Given the description of an element on the screen output the (x, y) to click on. 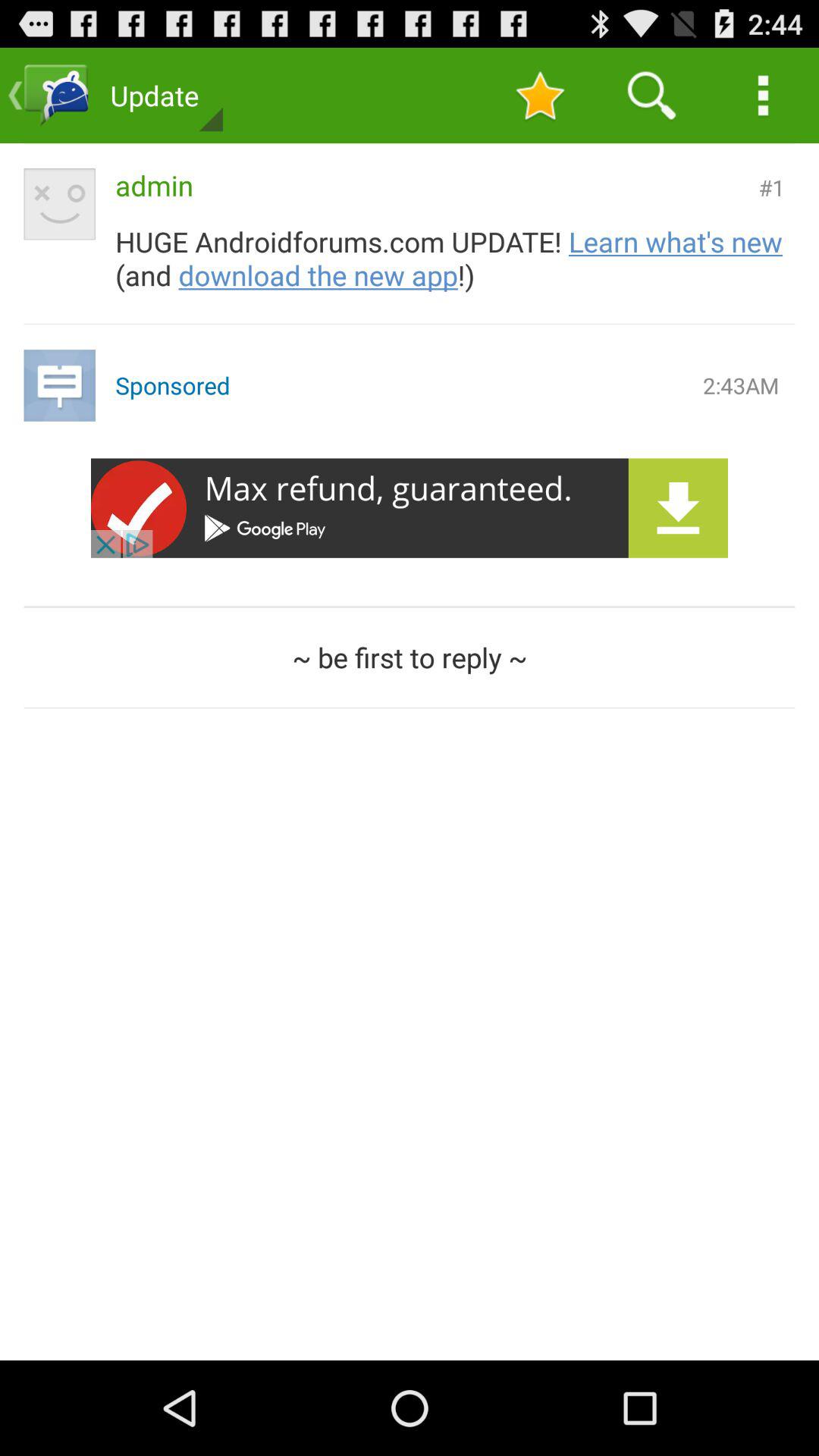
to download (409, 507)
